Given the description of an element on the screen output the (x, y) to click on. 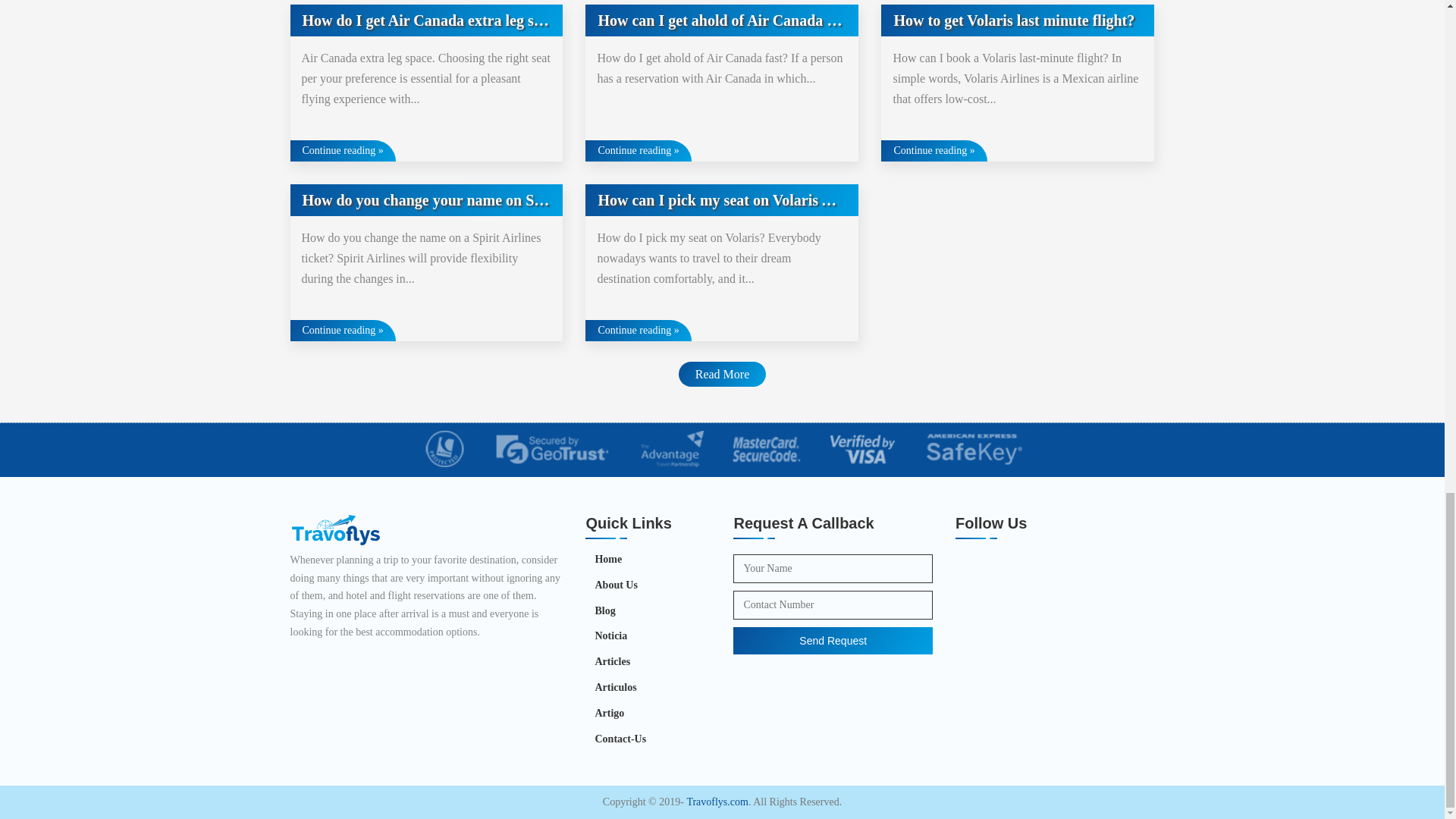
How can I get ahold of Air Canada agent? (722, 20)
How do I get Air Canada extra leg space? (425, 20)
Send Request (833, 640)
Read More (722, 373)
Articulos (610, 687)
Articles (607, 661)
Artigo (604, 713)
How do you change your name on Spirit flight tickets? (425, 200)
About Us (611, 585)
Travoflys.com (716, 802)
